Given the description of an element on the screen output the (x, y) to click on. 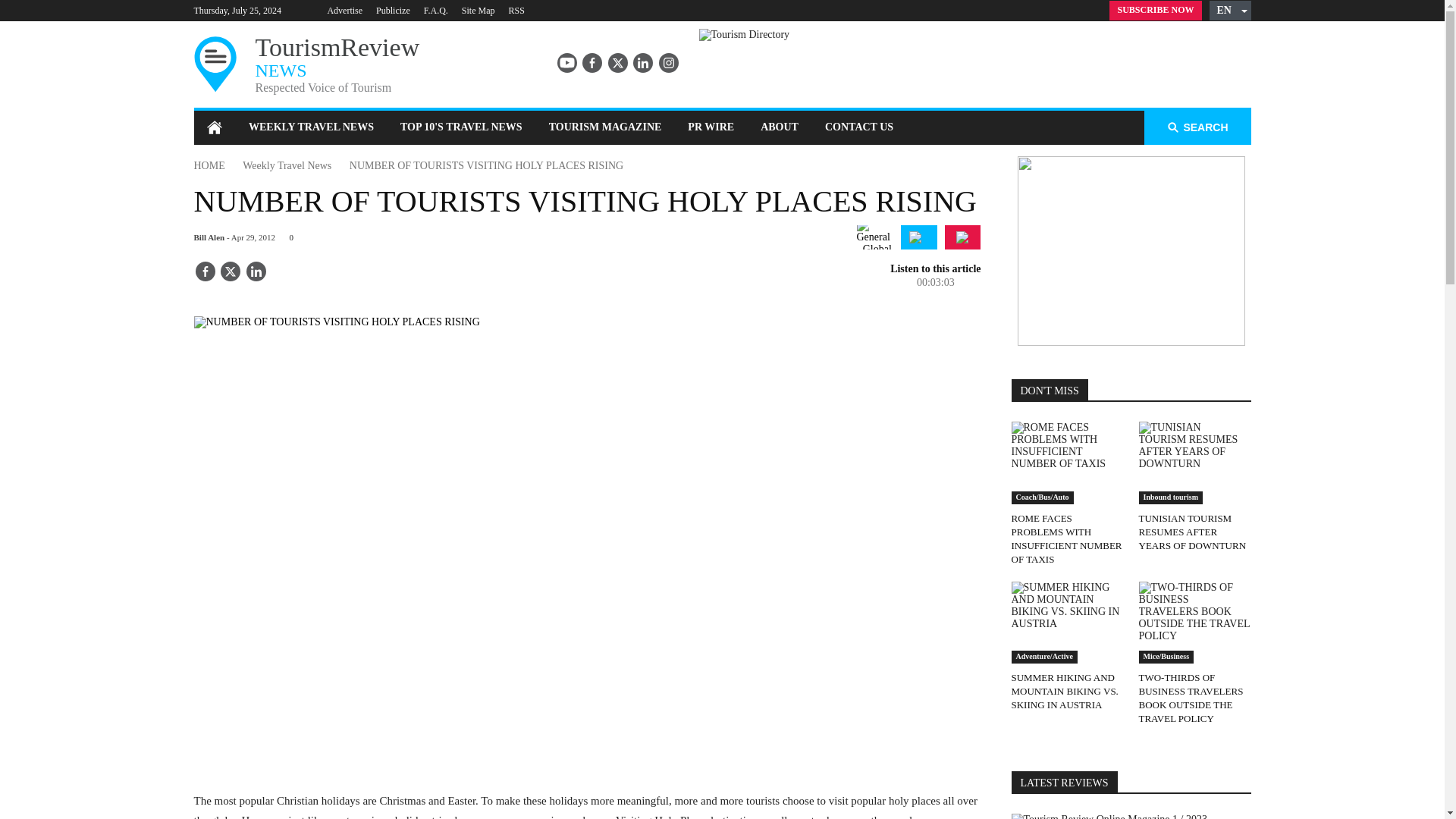
Weekly Travel News (287, 165)
ABOUT (780, 127)
PR WIRE (711, 127)
Advertise (344, 9)
WEEKLY TRAVEL NEWS (310, 127)
Religious and pilgrim travel news (919, 237)
SEARCH (1197, 126)
TOP 10'S TRAVEL NEWS (274, 65)
SUBSCRIBE NOW (461, 127)
CONTACT US (1155, 10)
Site Map (857, 127)
RSS (478, 9)
NUMBER OF TOURISTS VISITING HOLY PLACES RISING (516, 9)
HOME (486, 165)
